Given the description of an element on the screen output the (x, y) to click on. 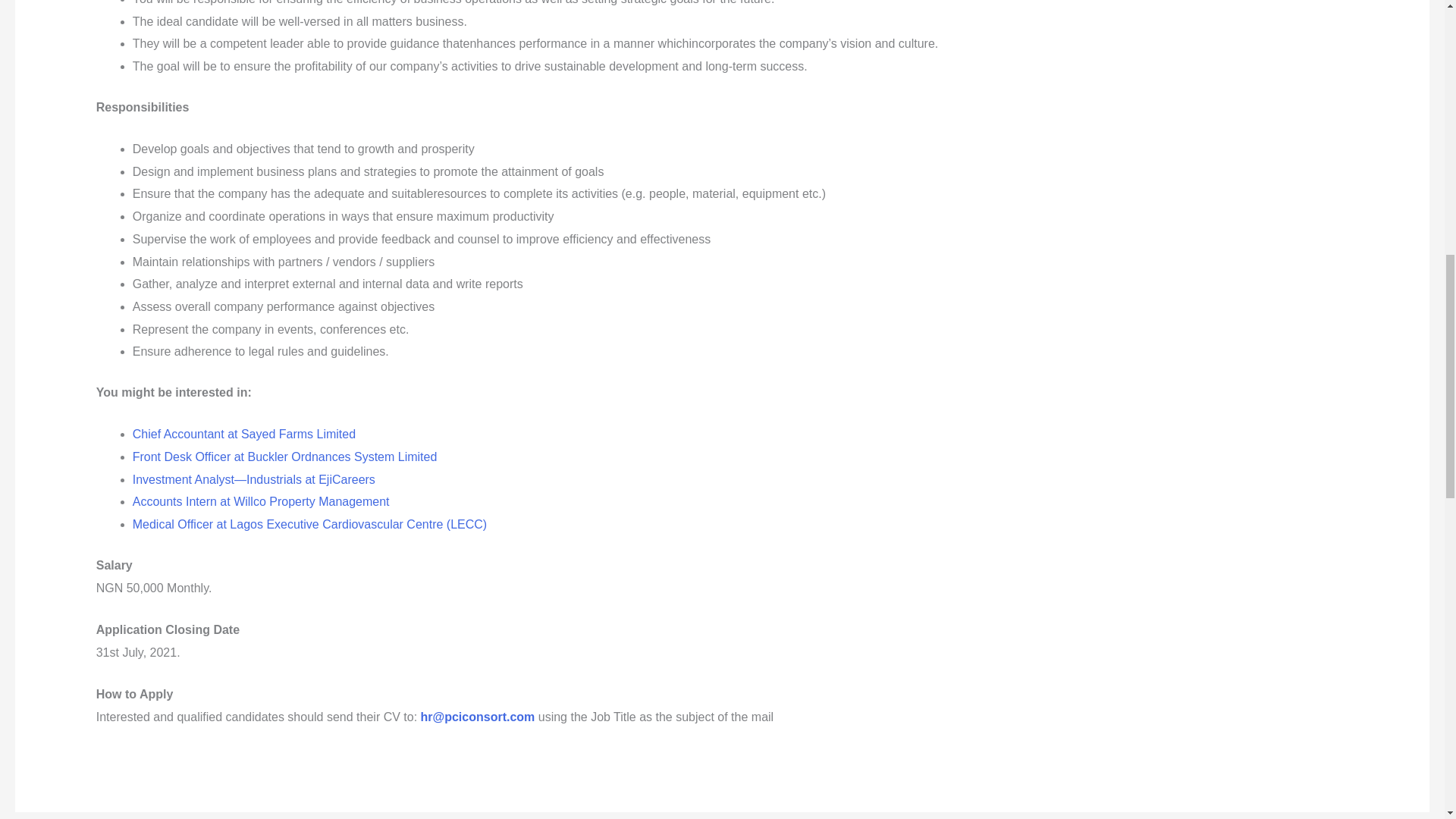
Accounts Intern at Willco Property Management (261, 501)
Chief Accountant at Sayed Farms Limited (243, 433)
Front Desk Officer at Buckler Ordnances System Limited (285, 456)
